Given the description of an element on the screen output the (x, y) to click on. 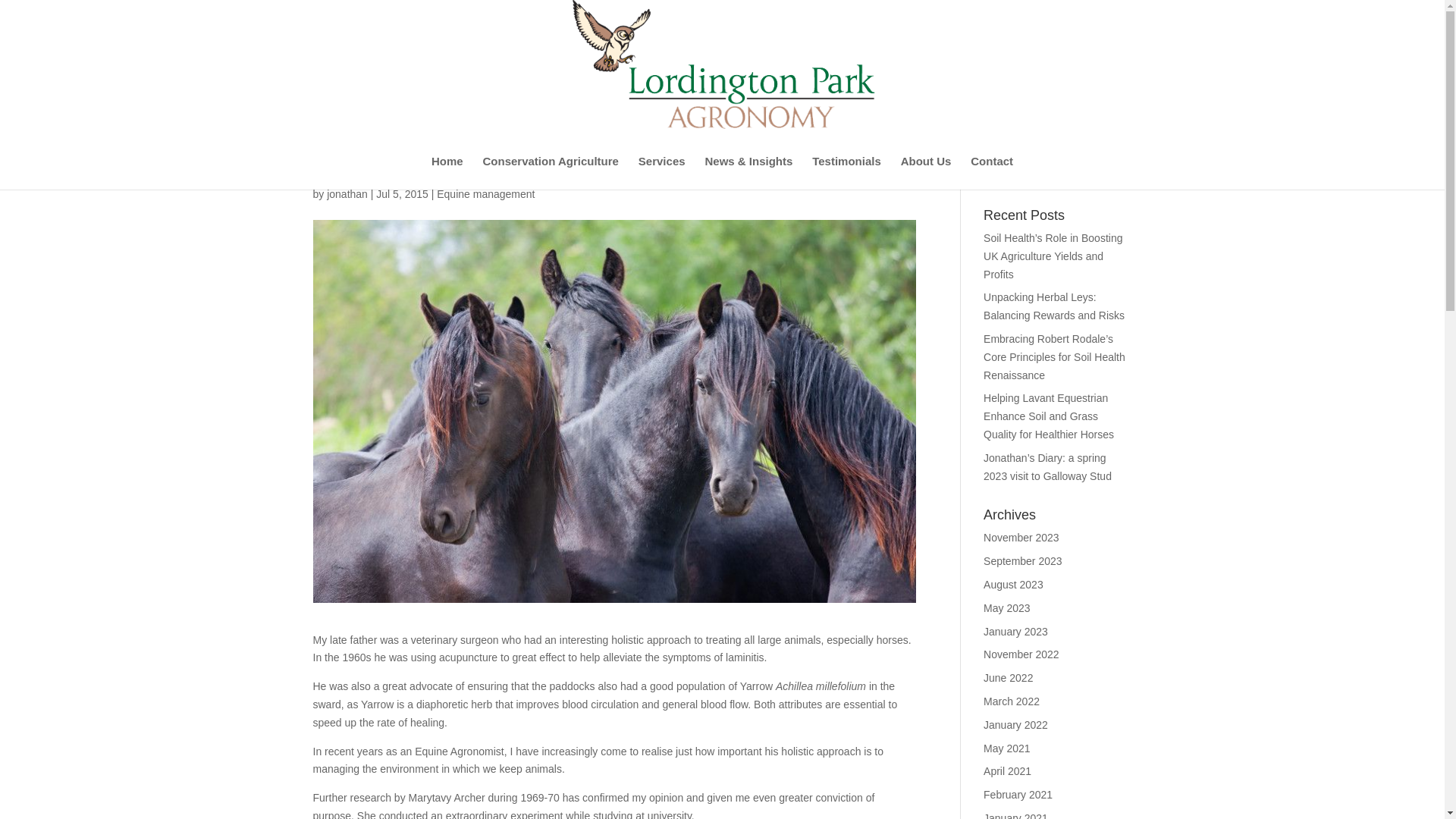
March 2022 (1011, 701)
April 2021 (1007, 770)
Search (1106, 170)
Equine management (485, 193)
February 2021 (1018, 794)
January 2023 (1016, 631)
About Us (926, 172)
Posts by jonathan (347, 193)
Contact (992, 172)
